Given the description of an element on the screen output the (x, y) to click on. 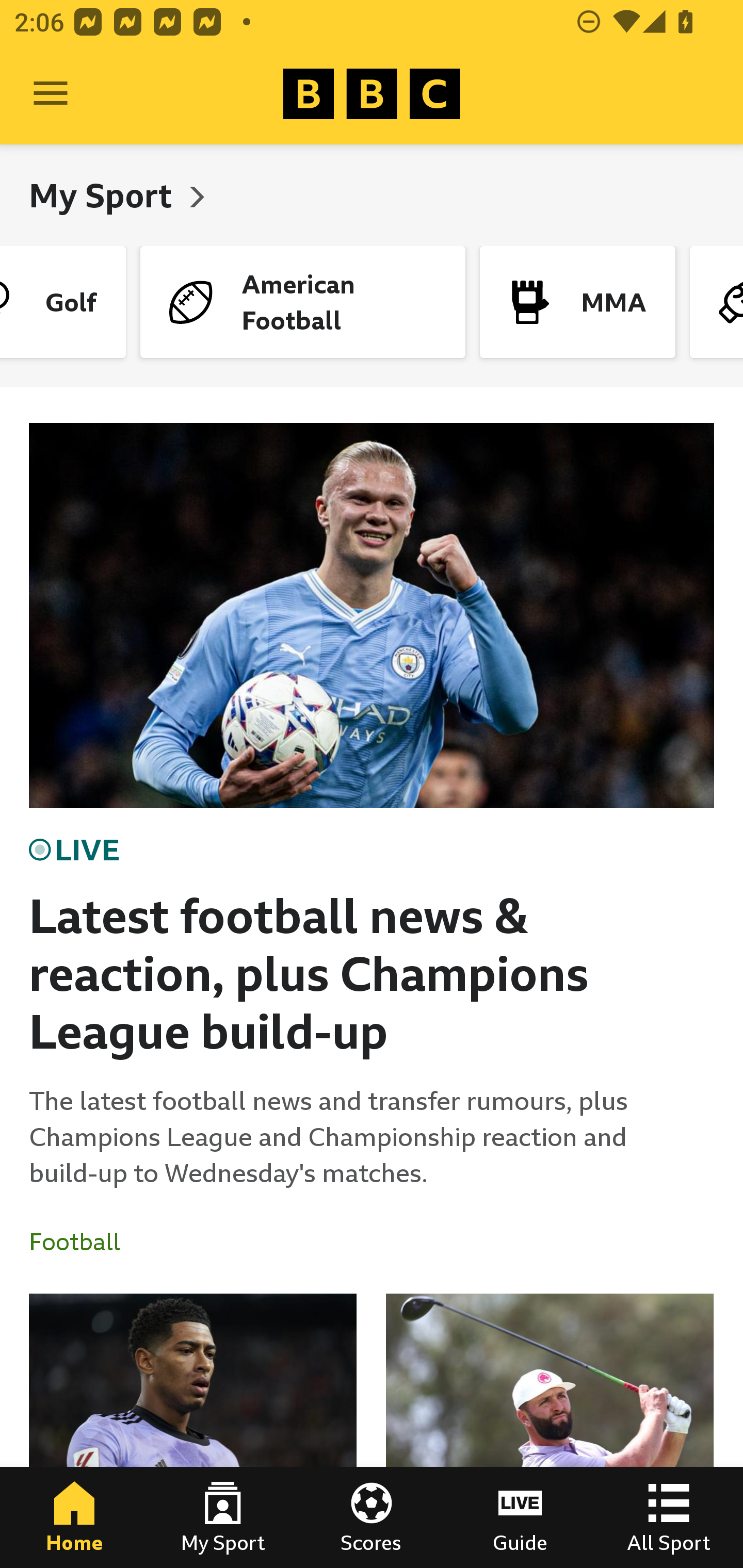
Open Menu (50, 93)
My Sport (104, 195)
Football In the section Football (81, 1241)
Real midfielder Bellingham banned for two games (192, 1430)
My Sport (222, 1517)
Scores (371, 1517)
Guide (519, 1517)
All Sport (668, 1517)
